Given the description of an element on the screen output the (x, y) to click on. 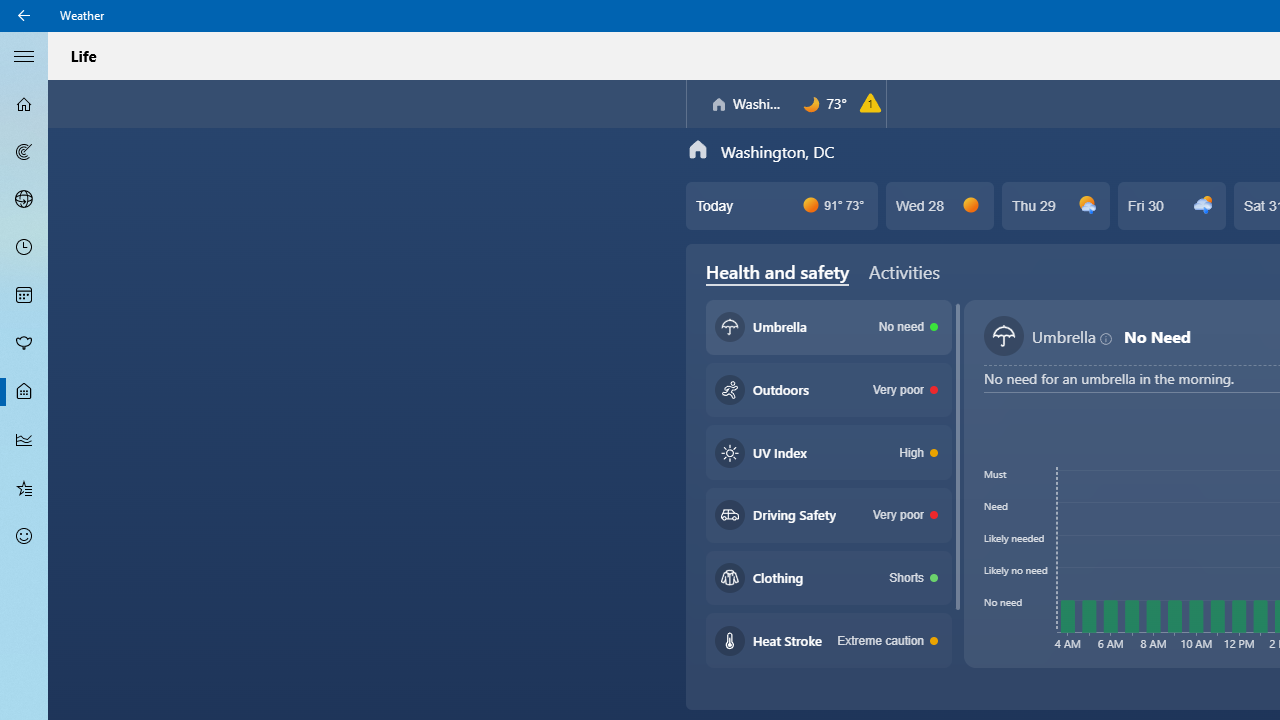
3D Maps - Not Selected (24, 199)
Favorites - Not Selected (24, 487)
Forecast - Not Selected (24, 103)
Monthly Forecast - Not Selected (24, 295)
Pollen - Not Selected (24, 343)
Historical Weather - Not Selected (24, 439)
Monthly Forecast - Not Selected (24, 295)
Maps - Not Selected (24, 151)
Collapse Navigation (24, 55)
Forecast - Not Selected (24, 103)
Hourly Forecast - Not Selected (24, 247)
Pollen - Not Selected (24, 343)
Maps - Not Selected (24, 151)
3D Maps - Not Selected (24, 199)
